Given the description of an element on the screen output the (x, y) to click on. 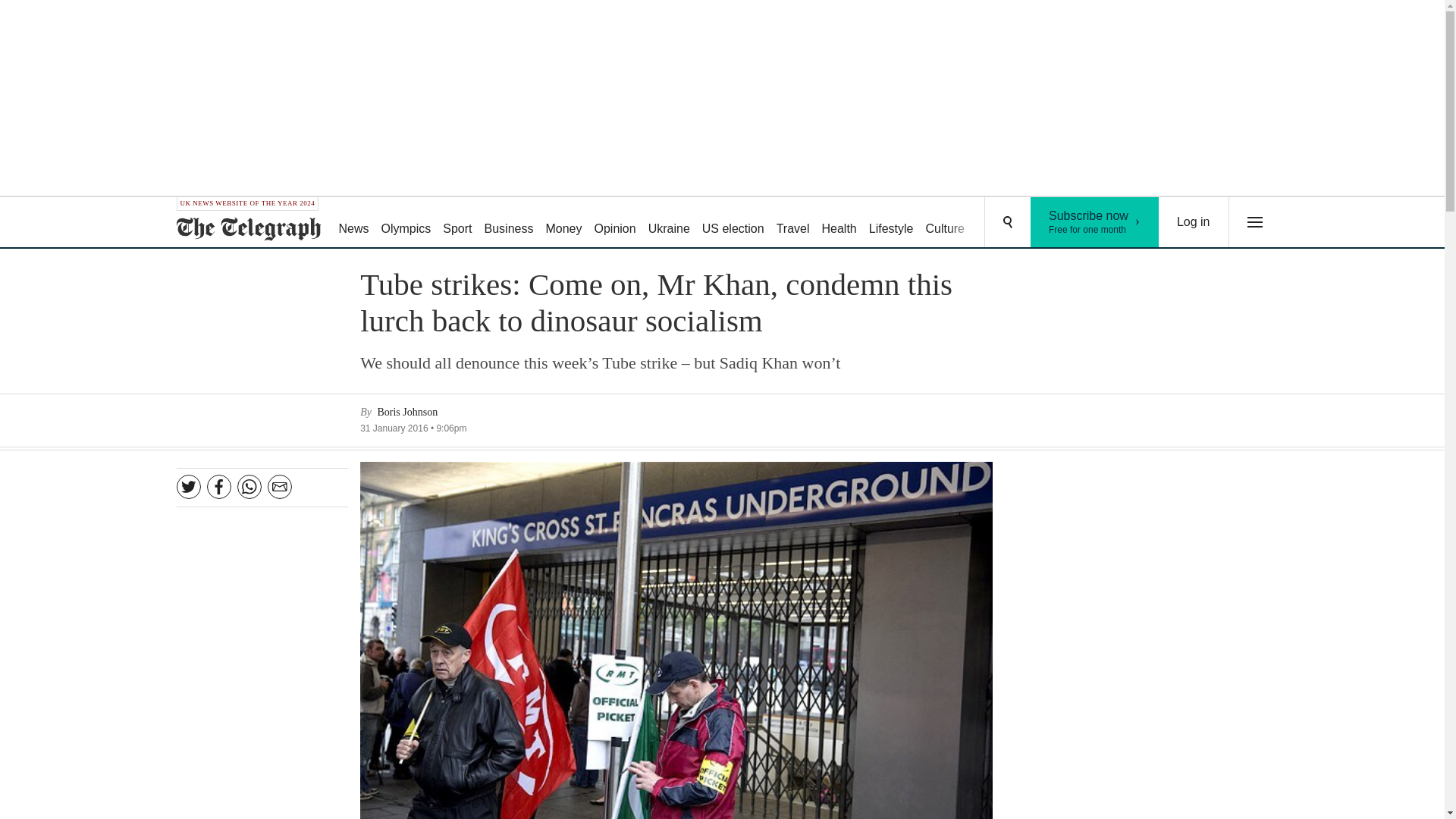
Podcasts (1056, 223)
Ukraine (668, 223)
Puzzles (1094, 222)
Olympics (998, 223)
Travel (406, 223)
Lifestyle (792, 223)
Log in (891, 223)
Money (1193, 222)
Opinion (563, 223)
Business (615, 223)
US election (509, 223)
Health (732, 223)
Culture (838, 223)
